Given the description of an element on the screen output the (x, y) to click on. 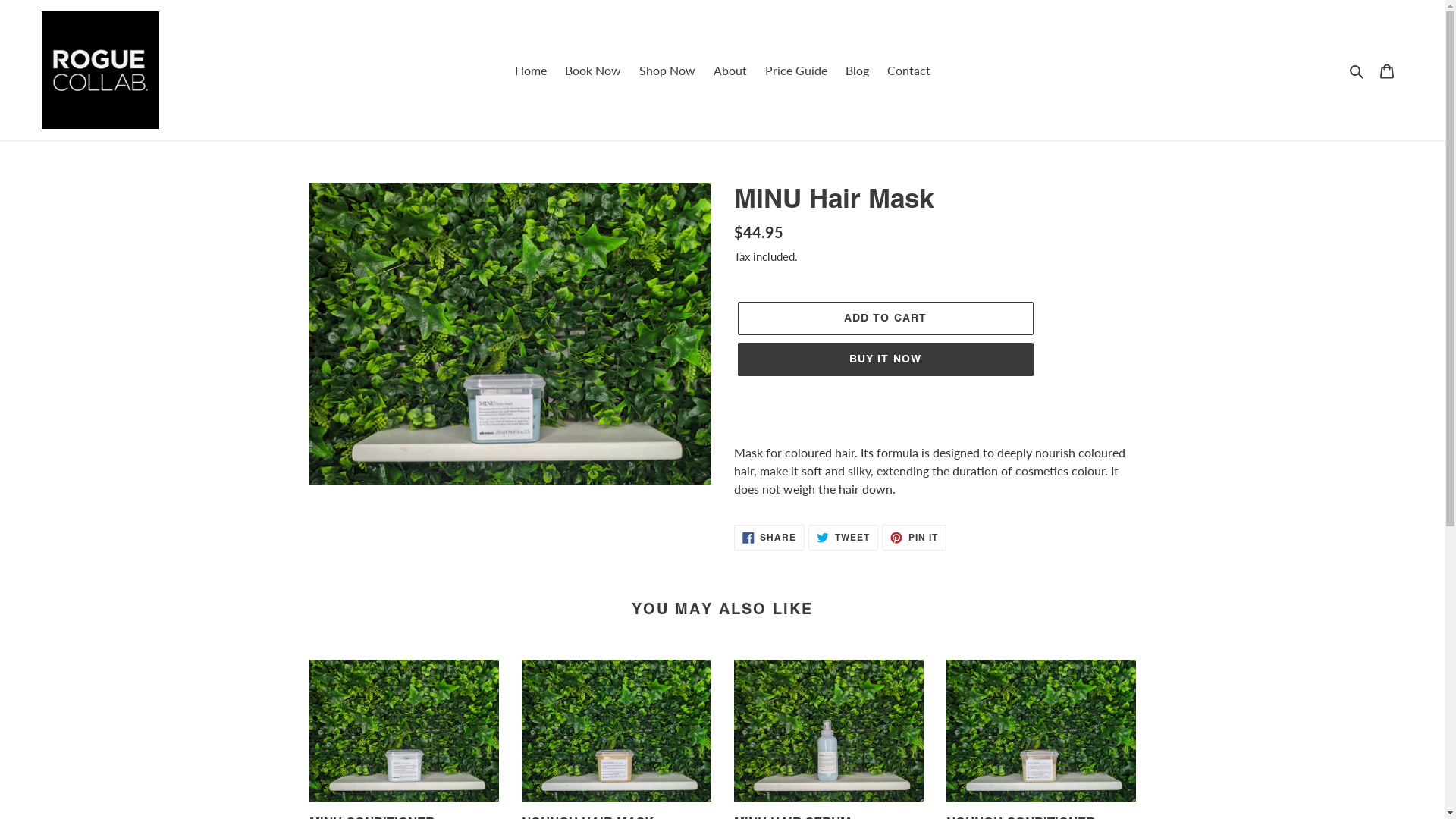
Shop Now Element type: text (666, 70)
Blog Element type: text (856, 70)
Contact Element type: text (908, 70)
Cart Element type: text (1386, 69)
Home Element type: text (529, 70)
SHARE
SHARE ON FACEBOOK Element type: text (769, 537)
About Element type: text (729, 70)
Search Element type: text (1357, 70)
PIN IT
PIN ON PINTEREST Element type: text (913, 537)
Price Guide Element type: text (795, 70)
BUY IT NOW Element type: text (884, 359)
ADD TO CART Element type: text (884, 318)
TWEET
TWEET ON TWITTER Element type: text (843, 537)
Book Now Element type: text (591, 70)
